Given the description of an element on the screen output the (x, y) to click on. 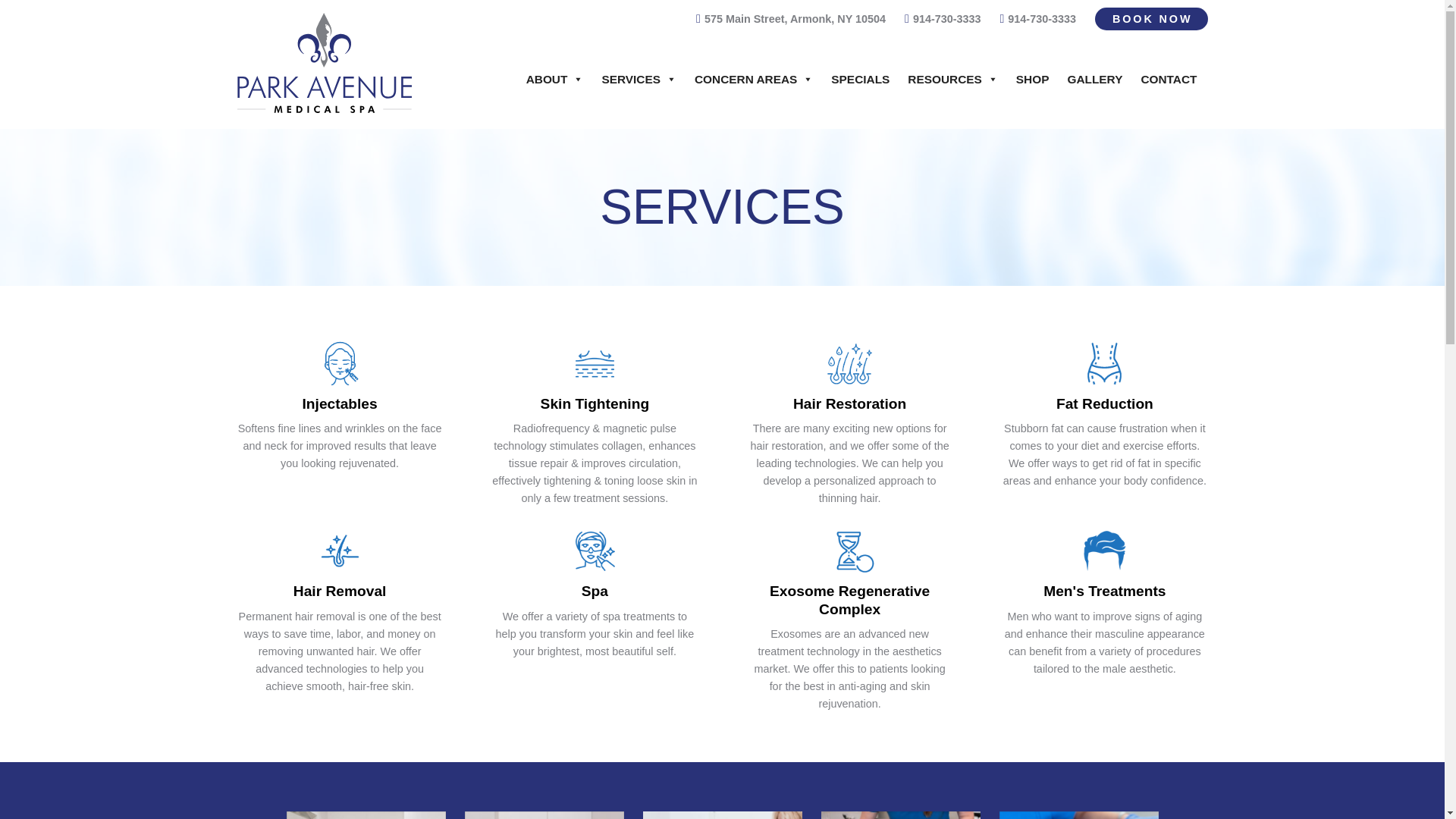
914-730-3333 (1040, 18)
BOOK NOW (1151, 18)
SERVICES (639, 79)
ABOUT (554, 79)
575 Main Street, Armonk, NY 10504 (792, 18)
914-730-3333 (944, 18)
